Given the description of an element on the screen output the (x, y) to click on. 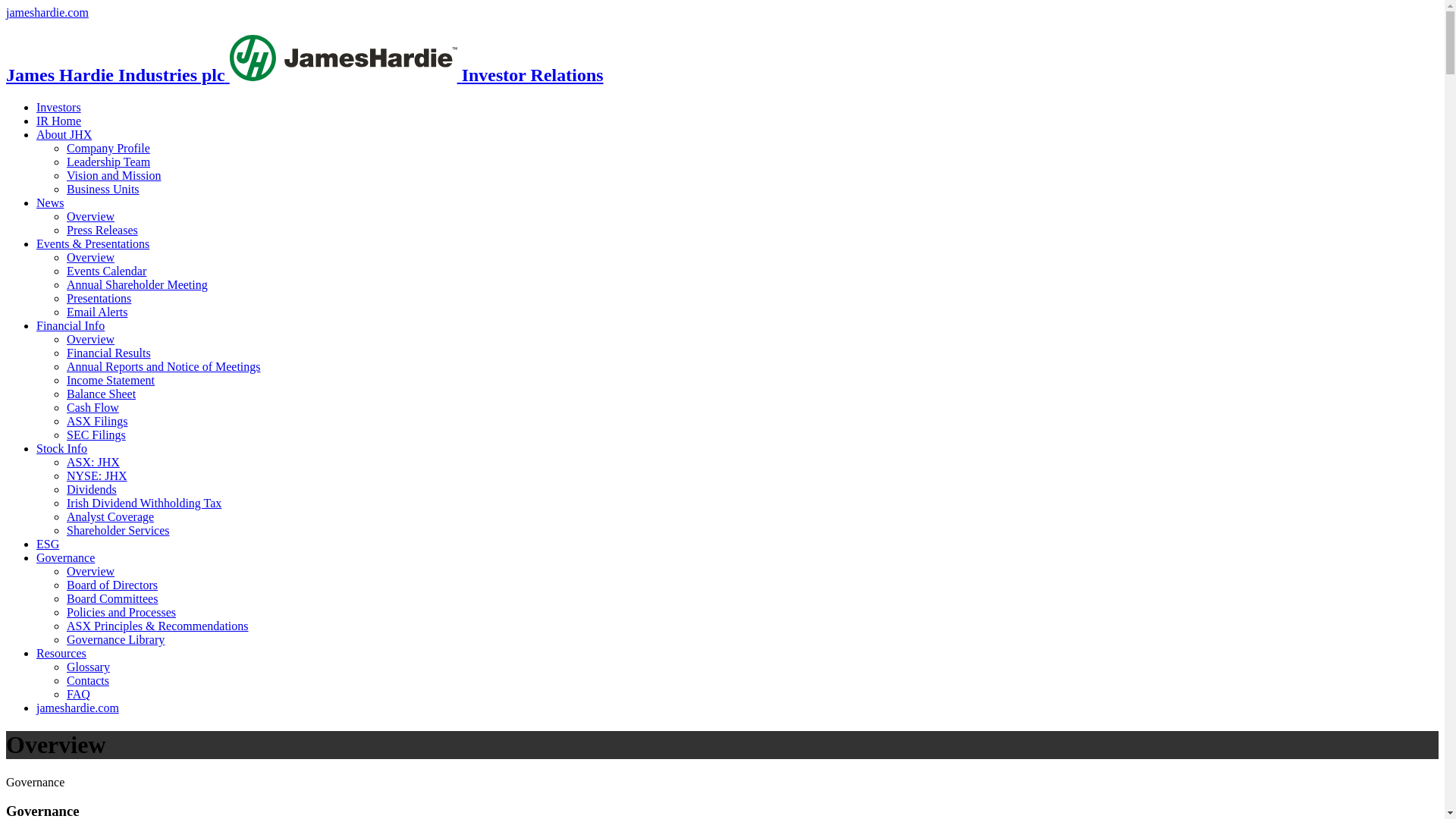
ESG Element type: text (47, 543)
Presentations Element type: text (98, 297)
Balance Sheet Element type: text (100, 393)
Cash Flow Element type: text (92, 407)
Glossary Element type: text (87, 666)
ASX Principles & Recommendations Element type: text (157, 625)
Overview Element type: text (90, 338)
About JHX Element type: text (63, 134)
Annual Reports and Notice of Meetings Element type: text (163, 366)
Governance Element type: text (65, 557)
James Hardie Industries plc Investor Relations Element type: text (304, 74)
News Element type: text (49, 202)
Overview Element type: text (90, 216)
Events Calendar Element type: text (106, 270)
NYSE: JHX Element type: text (96, 475)
IR Home Element type: text (58, 120)
Income Statement Element type: text (110, 379)
Vision and Mission Element type: text (113, 175)
Annual Shareholder Meeting Element type: text (136, 284)
Overview Element type: text (90, 257)
SEC Filings Element type: text (95, 434)
Leadership Team Element type: text (108, 161)
Governance Library Element type: text (115, 639)
jameshardie.com Element type: text (77, 707)
Irish Dividend Withholding Tax Element type: text (143, 502)
Investors Element type: text (58, 106)
Events & Presentations Element type: text (92, 243)
Shareholder Services Element type: text (117, 530)
Overview Element type: text (90, 570)
Company Profile Element type: text (108, 147)
FAQ Element type: text (78, 693)
Board Committees Element type: text (111, 598)
Financial Info Element type: text (70, 325)
Governance Element type: text (722, 781)
Dividends Element type: text (91, 489)
Stock Info Element type: text (61, 448)
Resources Element type: text (61, 652)
Contacts Element type: text (87, 680)
Business Units Element type: text (102, 188)
Analyst Coverage Element type: text (109, 516)
Board of Directors Element type: text (111, 584)
Press Releases Element type: text (102, 229)
Email Alerts Element type: text (96, 311)
Financial Results Element type: text (108, 352)
ASX Filings Element type: text (96, 420)
Policies and Processes Element type: text (120, 611)
jameshardie.com Element type: text (47, 12)
ASX: JHX Element type: text (92, 461)
